Given the description of an element on the screen output the (x, y) to click on. 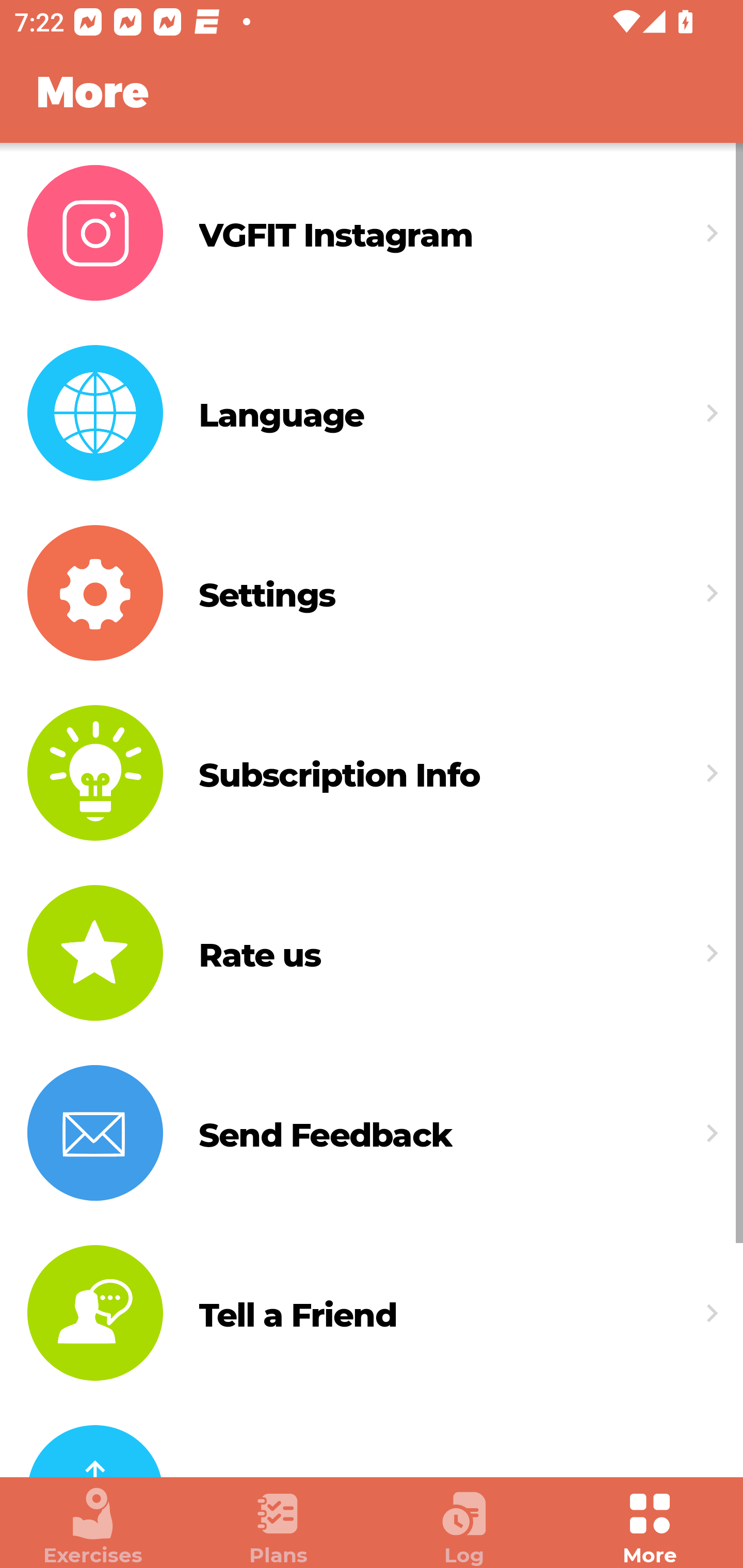
VGFIT Instagram (371, 232)
Language (371, 413)
Settings (371, 593)
Subscription Info (371, 773)
Rate us (371, 952)
Send Feedback (371, 1132)
Tell a Friend (371, 1313)
Exercises (92, 1527)
Plans (278, 1527)
Log (464, 1527)
More (650, 1527)
